Given the description of an element on the screen output the (x, y) to click on. 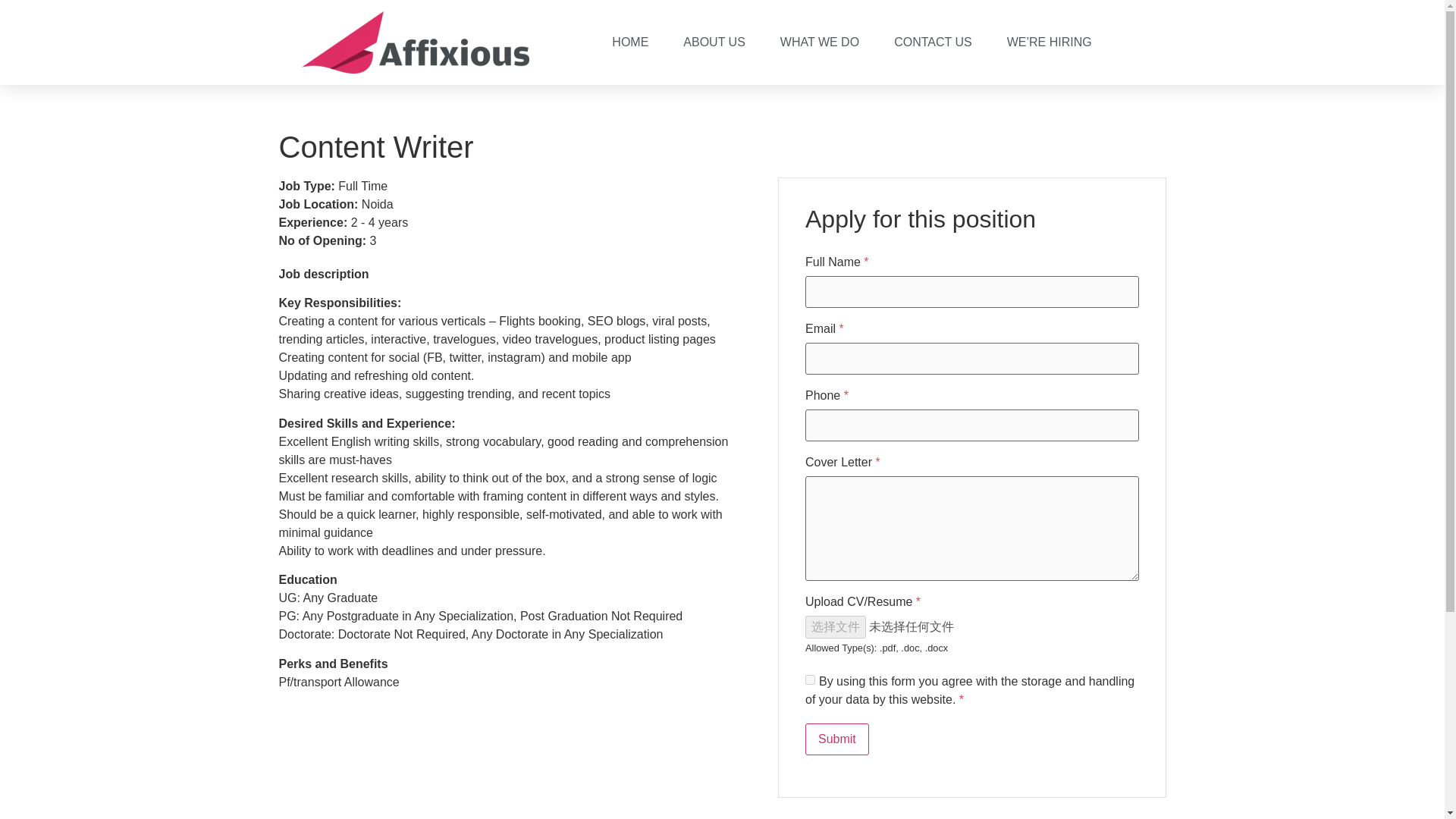
HOME (629, 41)
Submit (837, 739)
CONTACT US (933, 41)
yes (810, 679)
WHAT WE DO (820, 41)
ABOUT US (714, 41)
Submit (837, 739)
